Given the description of an element on the screen output the (x, y) to click on. 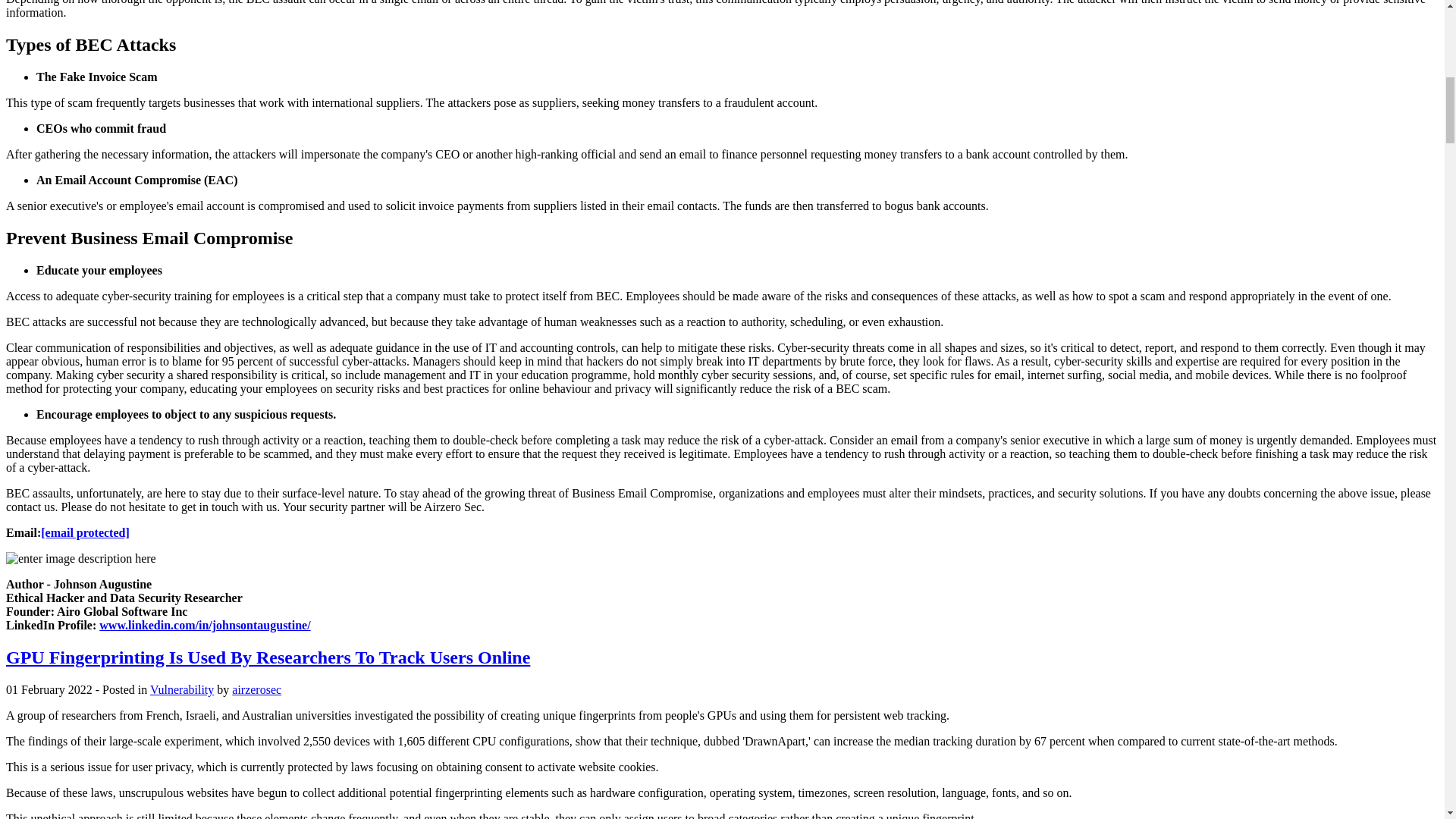
Vulnerability (181, 689)
airzerosec (256, 689)
